Given the description of an element on the screen output the (x, y) to click on. 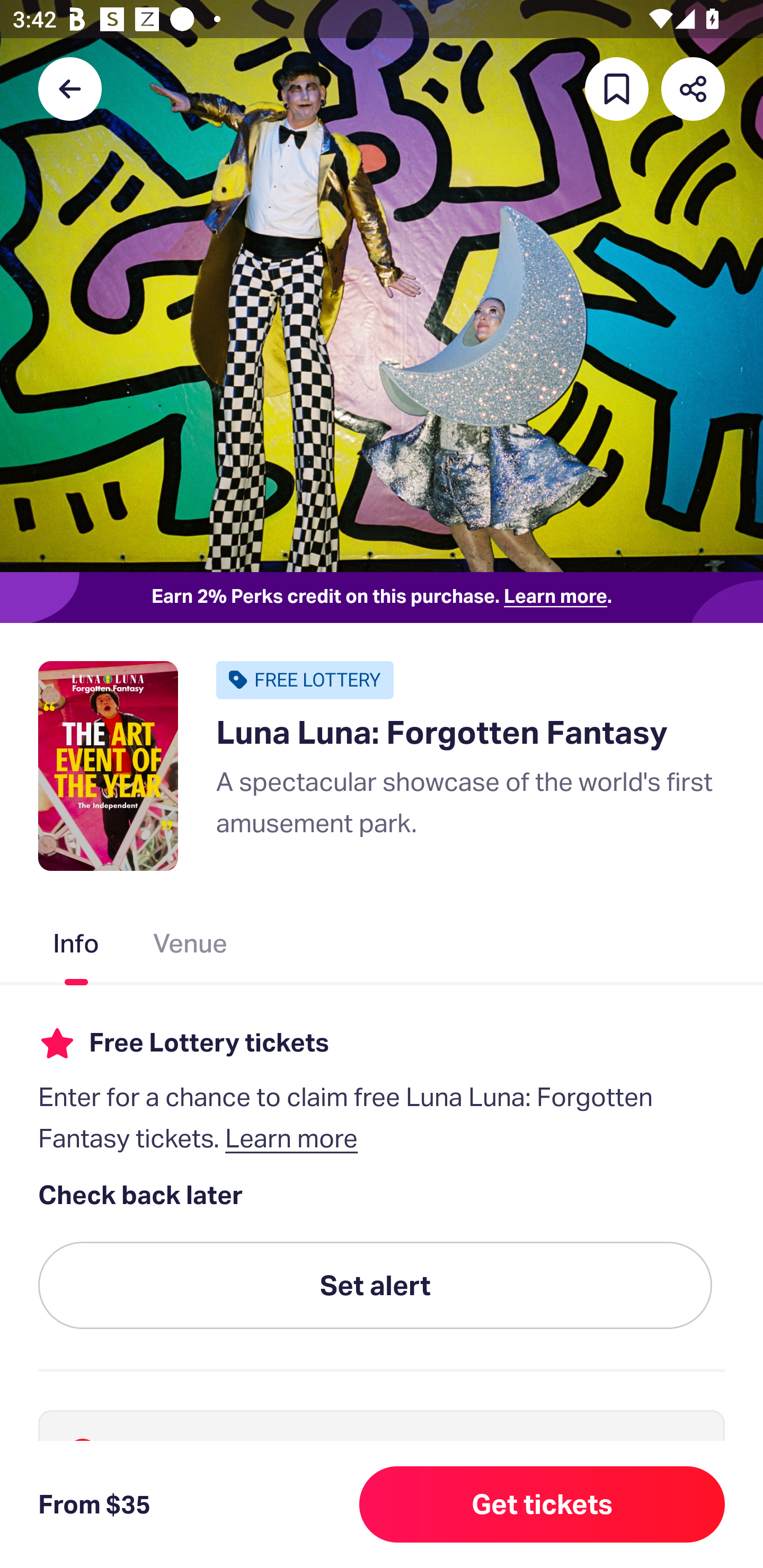
Earn 2% Perks credit on this purchase. Learn more. (381, 597)
Venue (190, 946)
Set alert (374, 1286)
Get tickets (541, 1504)
